Given the description of an element on the screen output the (x, y) to click on. 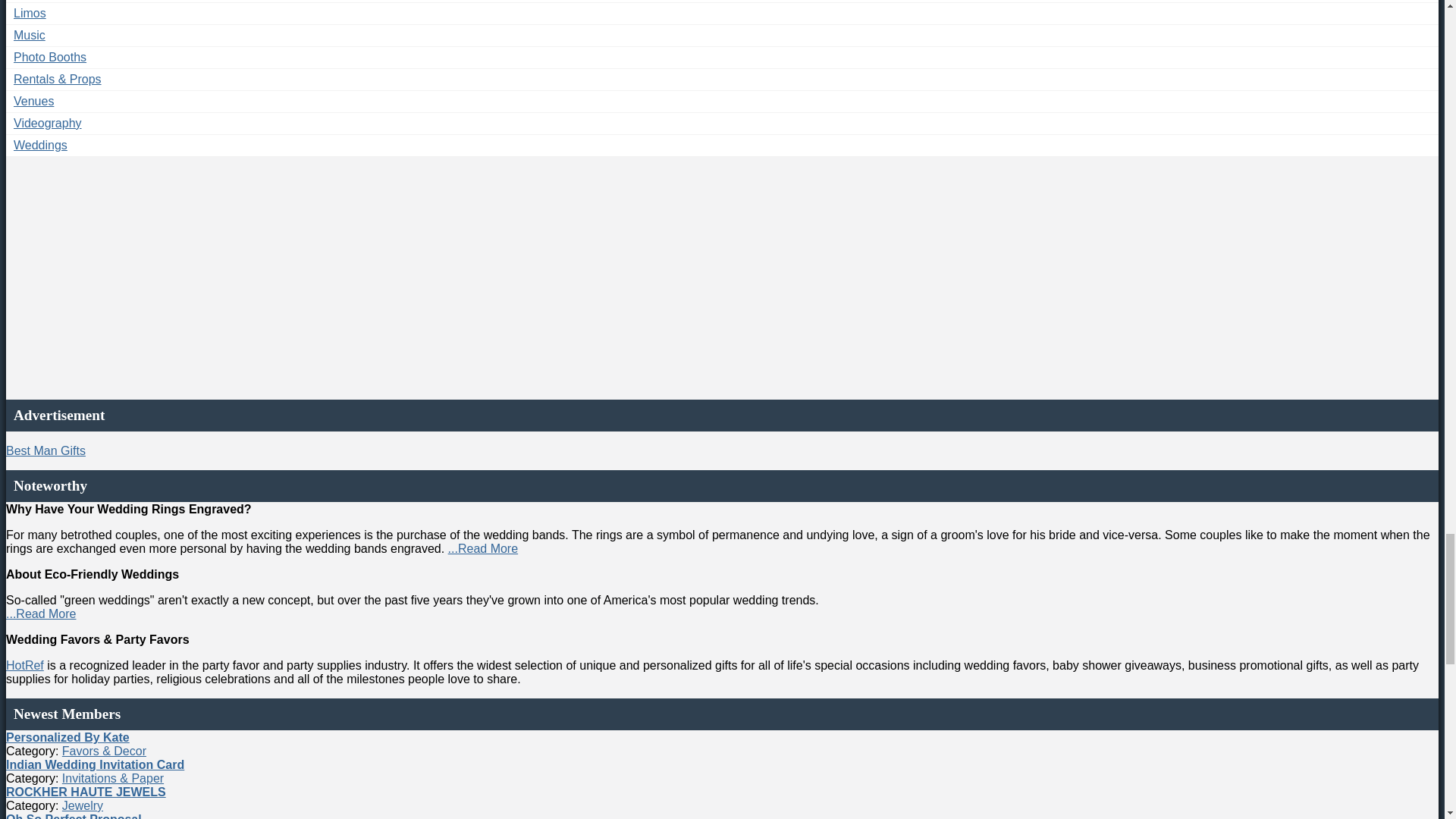
party favor and party supplies (24, 665)
Best Man Gifts and Groomsmen Gifts (45, 450)
